Given the description of an element on the screen output the (x, y) to click on. 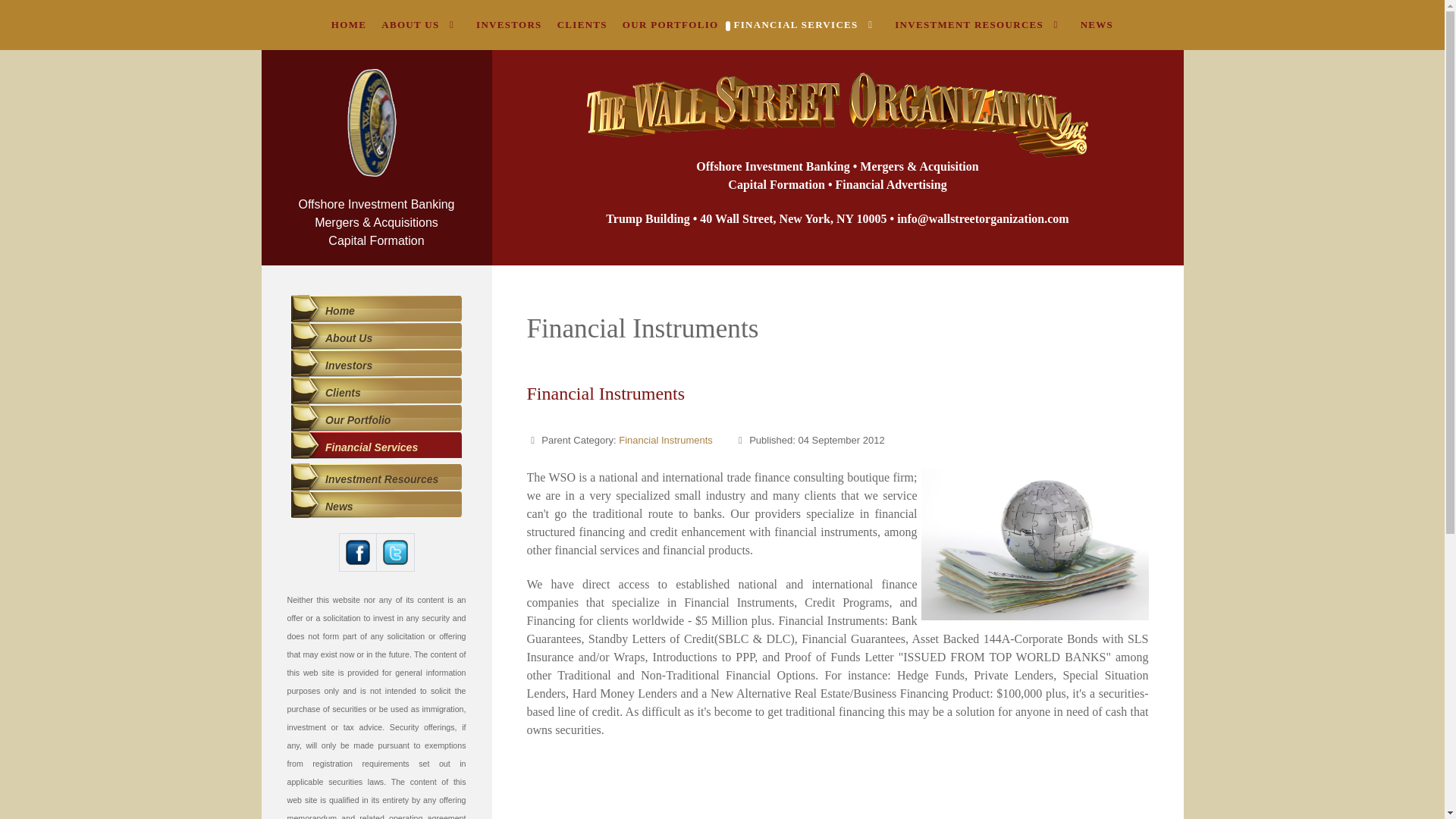
Clients (376, 393)
Follow WSO on Twitter (394, 552)
Investors (376, 365)
News (376, 506)
About Us (376, 338)
Follow WSO on Facebook! (358, 551)
Our Portfolio (376, 420)
INVESTORS (509, 24)
INVESTMENT RESOURCES (978, 24)
HOME (348, 24)
